Given the description of an element on the screen output the (x, y) to click on. 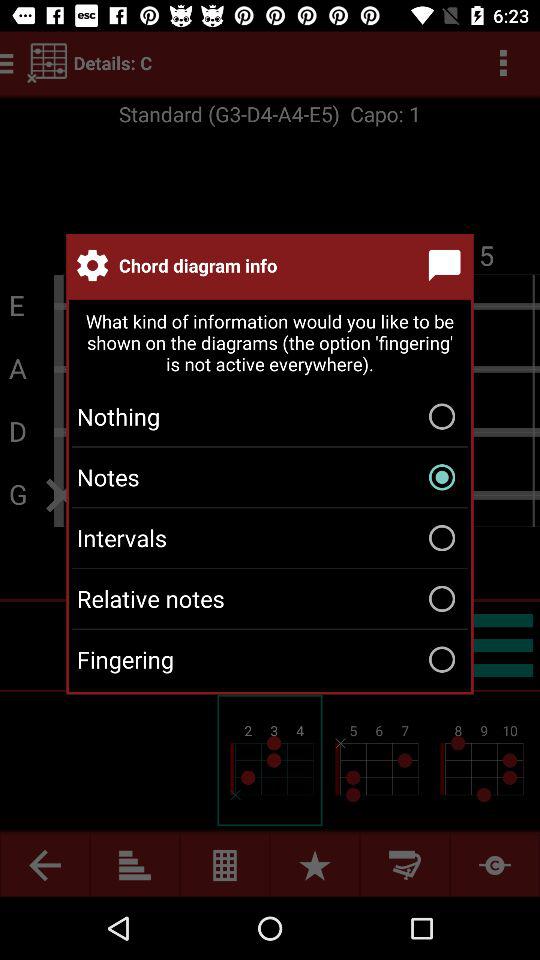
tap item above what kind of item (448, 265)
